Given the description of an element on the screen output the (x, y) to click on. 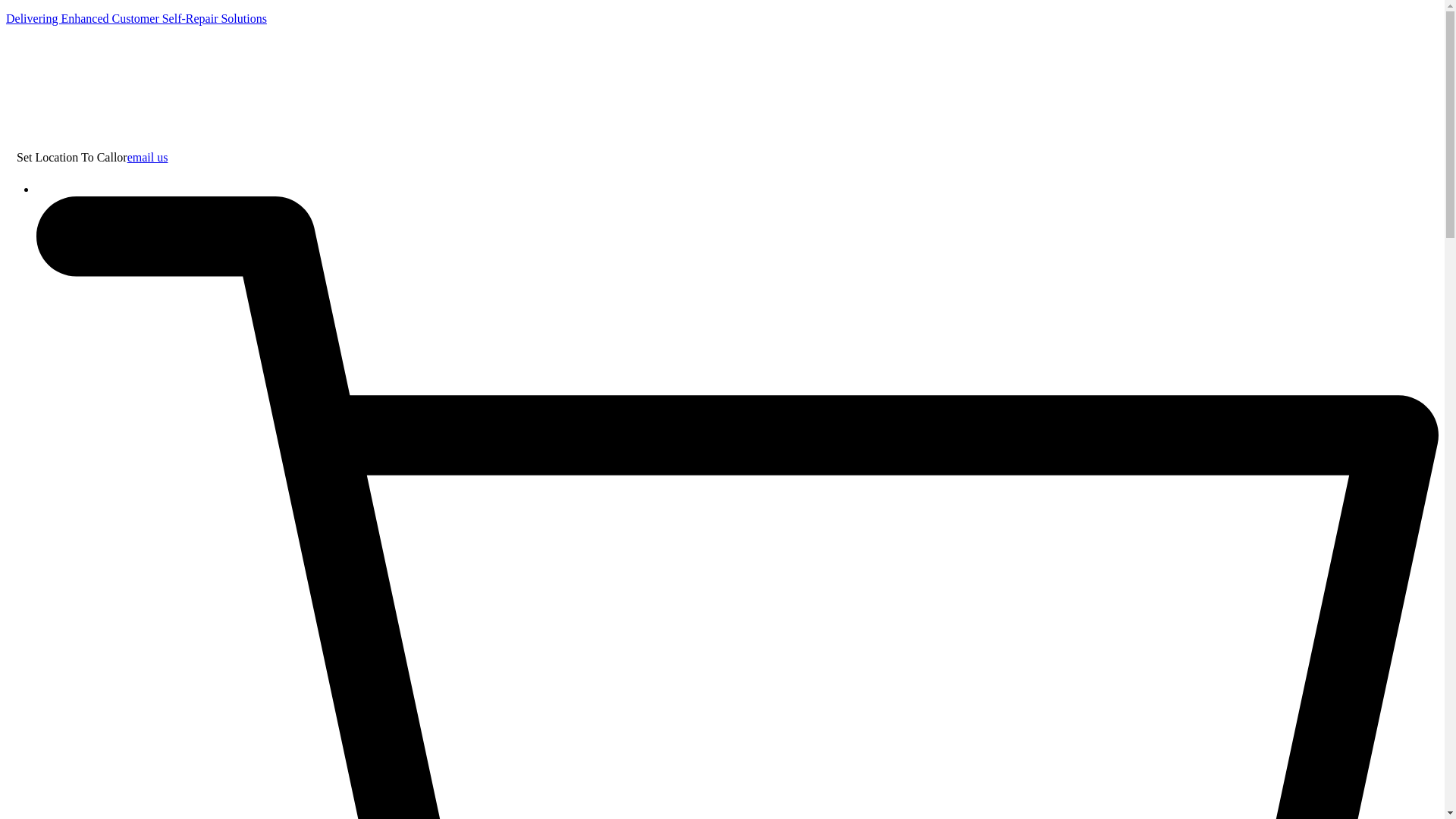
email us (148, 156)
Delivering Enhanced Customer Self-Repair Solutions (135, 18)
